Given the description of an element on the screen output the (x, y) to click on. 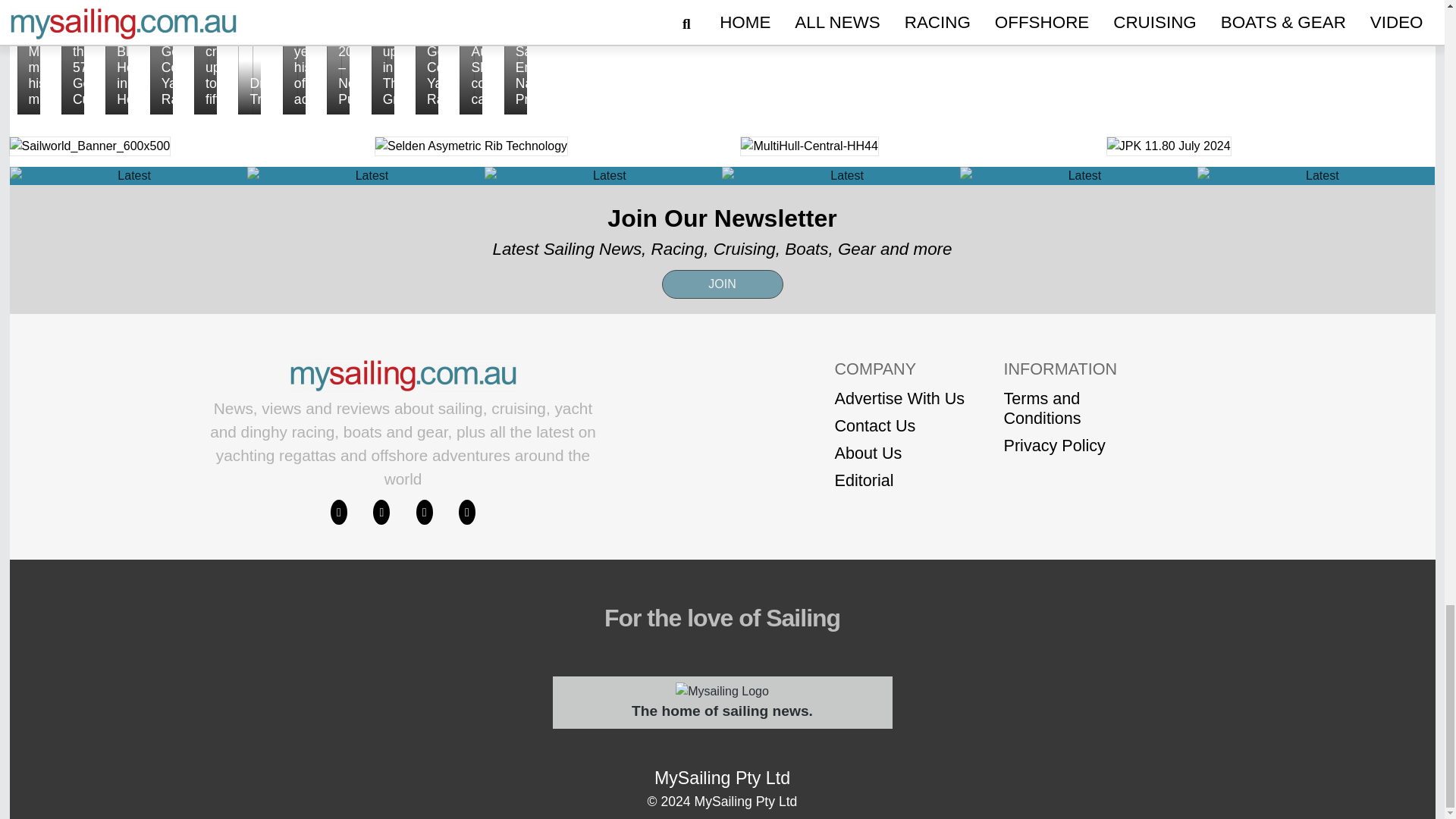
Contact Us (899, 425)
Advertise With Us (899, 398)
Editorial (899, 480)
About Us (899, 453)
